Given the description of an element on the screen output the (x, y) to click on. 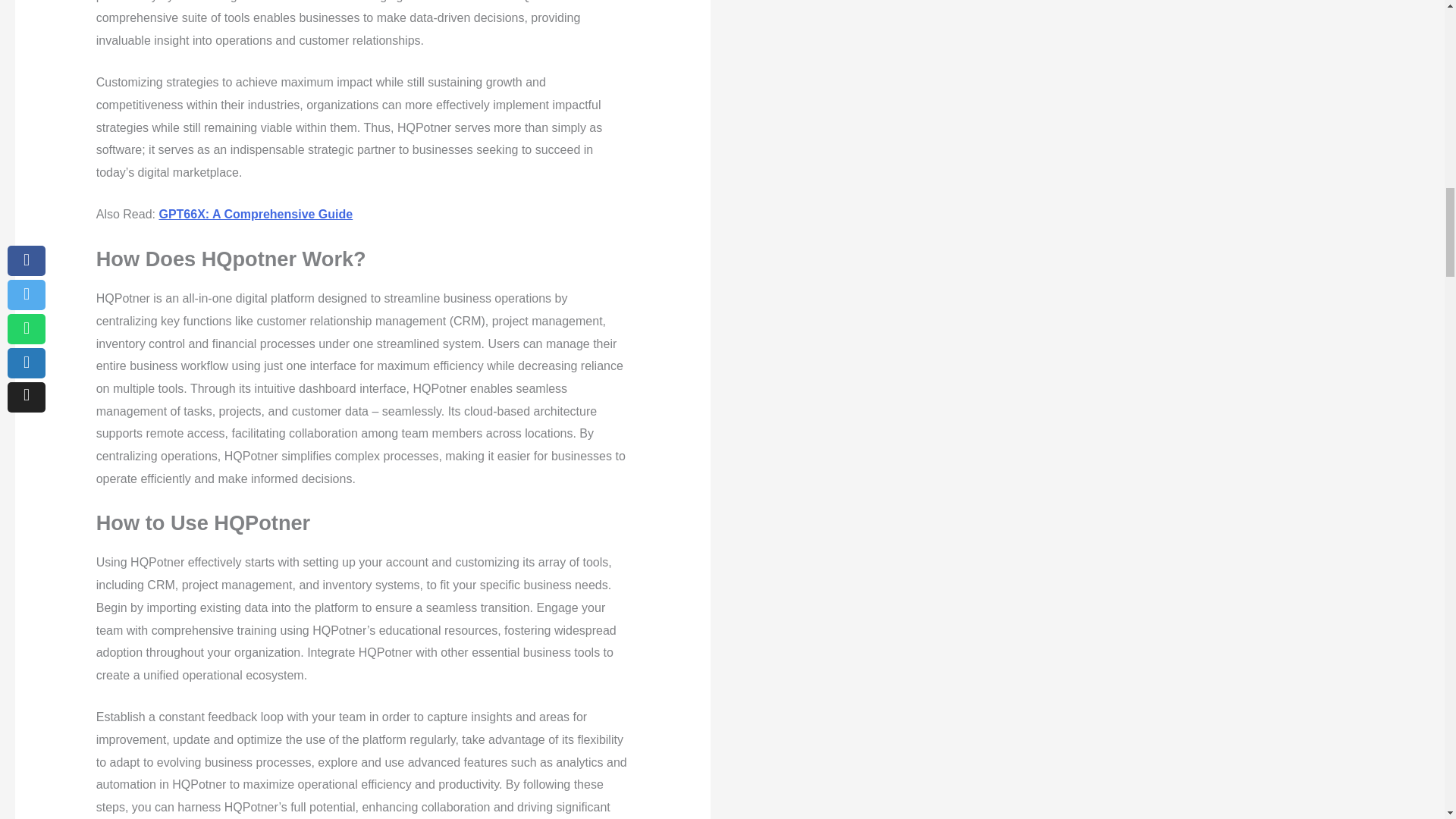
GPT66X: A Comprehensive Guide (255, 214)
